Given the description of an element on the screen output the (x, y) to click on. 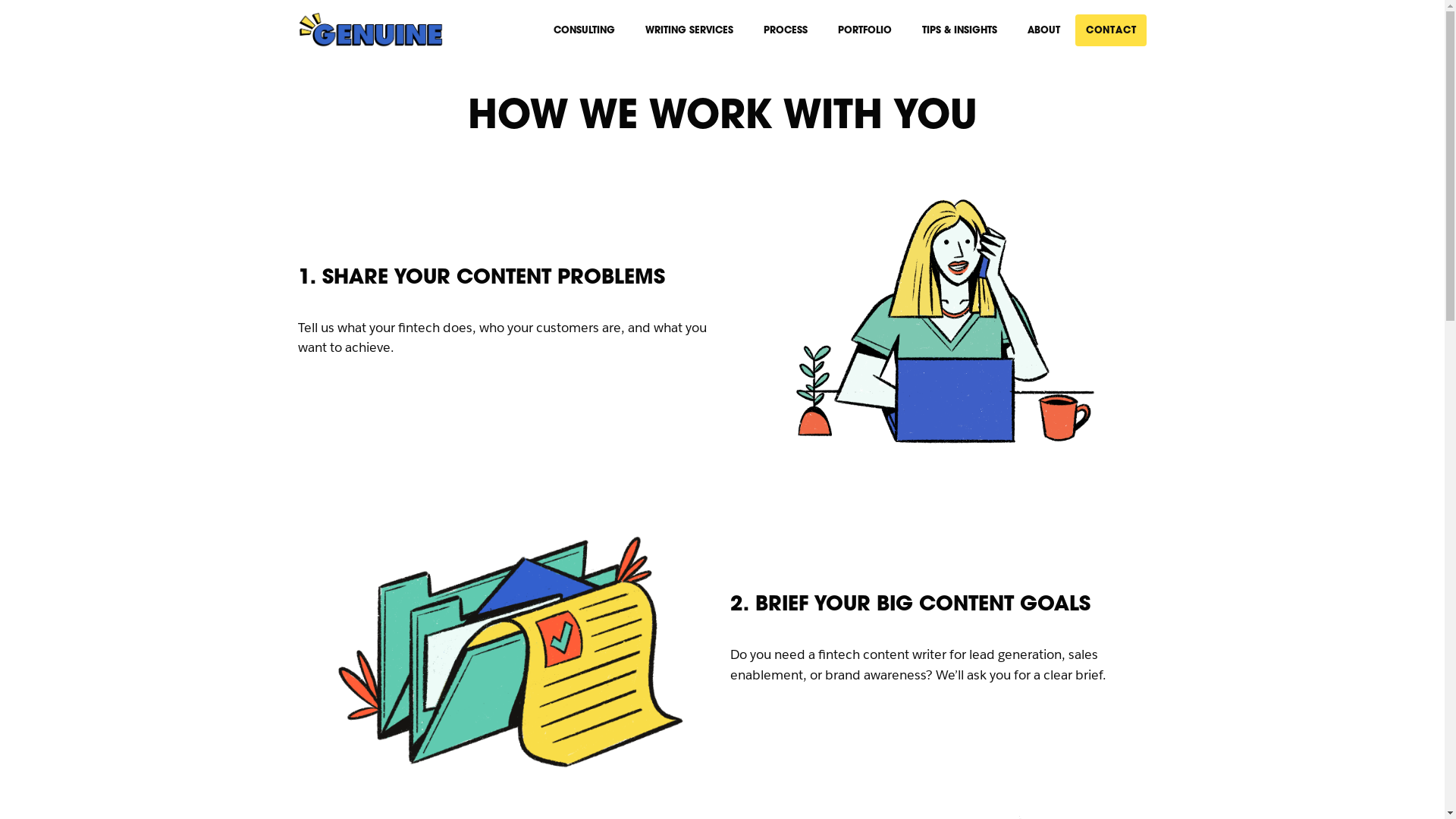
CONTACT Element type: text (1111, 30)
TIPS & INSIGHTS Element type: text (959, 30)
WRITING SERVICES Element type: text (689, 30)
PORTFOLIO Element type: text (864, 30)
PROCESS Element type: text (785, 30)
ABOUT Element type: text (1043, 30)
CONSULTING Element type: text (584, 30)
